Given the description of an element on the screen output the (x, y) to click on. 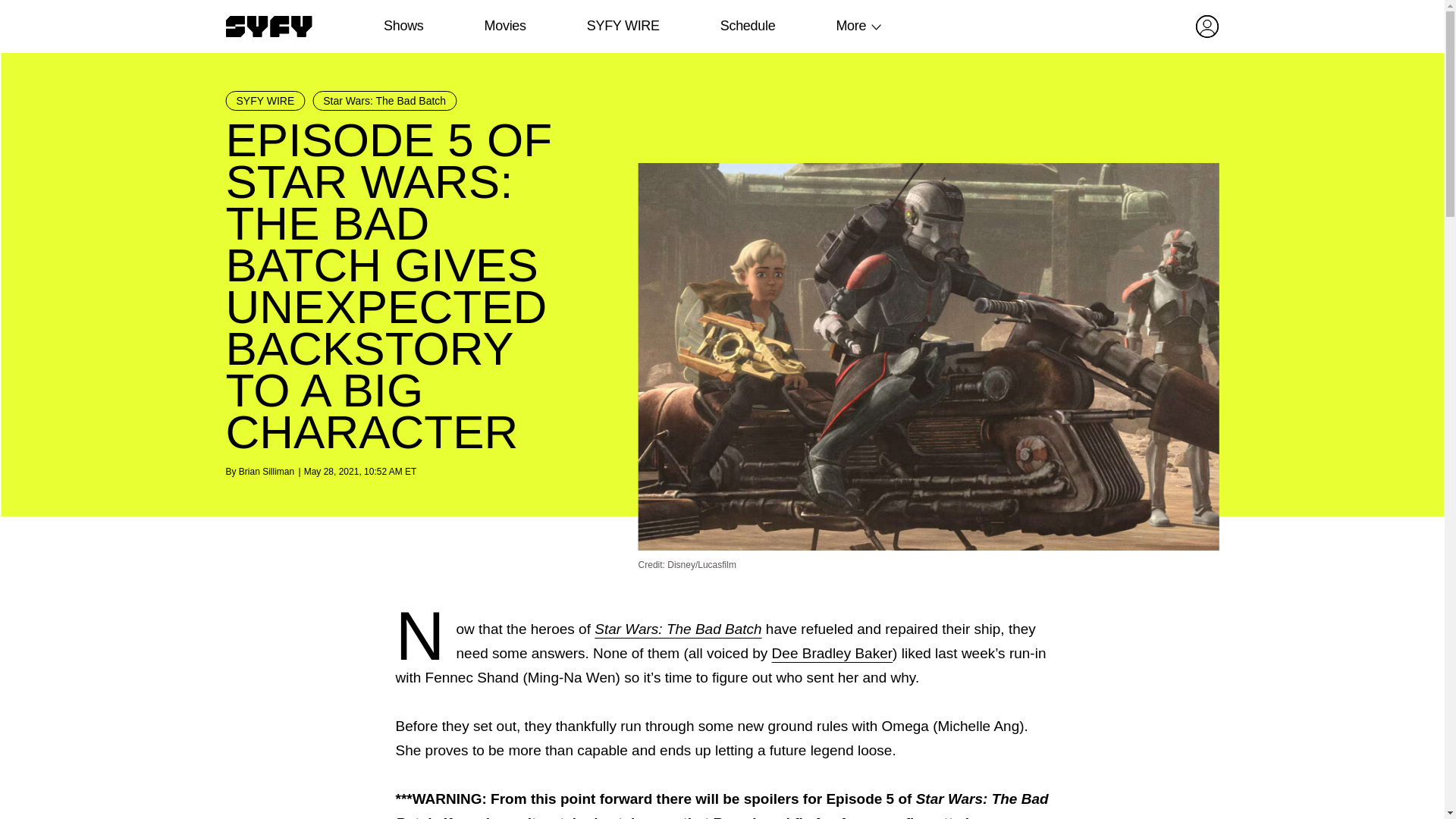
Brian Silliman (266, 471)
SYFY WIRE (265, 100)
Movies (504, 26)
Star Wars: The Bad Batch (677, 628)
Shows (403, 26)
Dee Bradley Baker (831, 652)
Star Wars: The Bad Batch (385, 100)
SYFY WIRE (622, 26)
Schedule (746, 26)
